Given the description of an element on the screen output the (x, y) to click on. 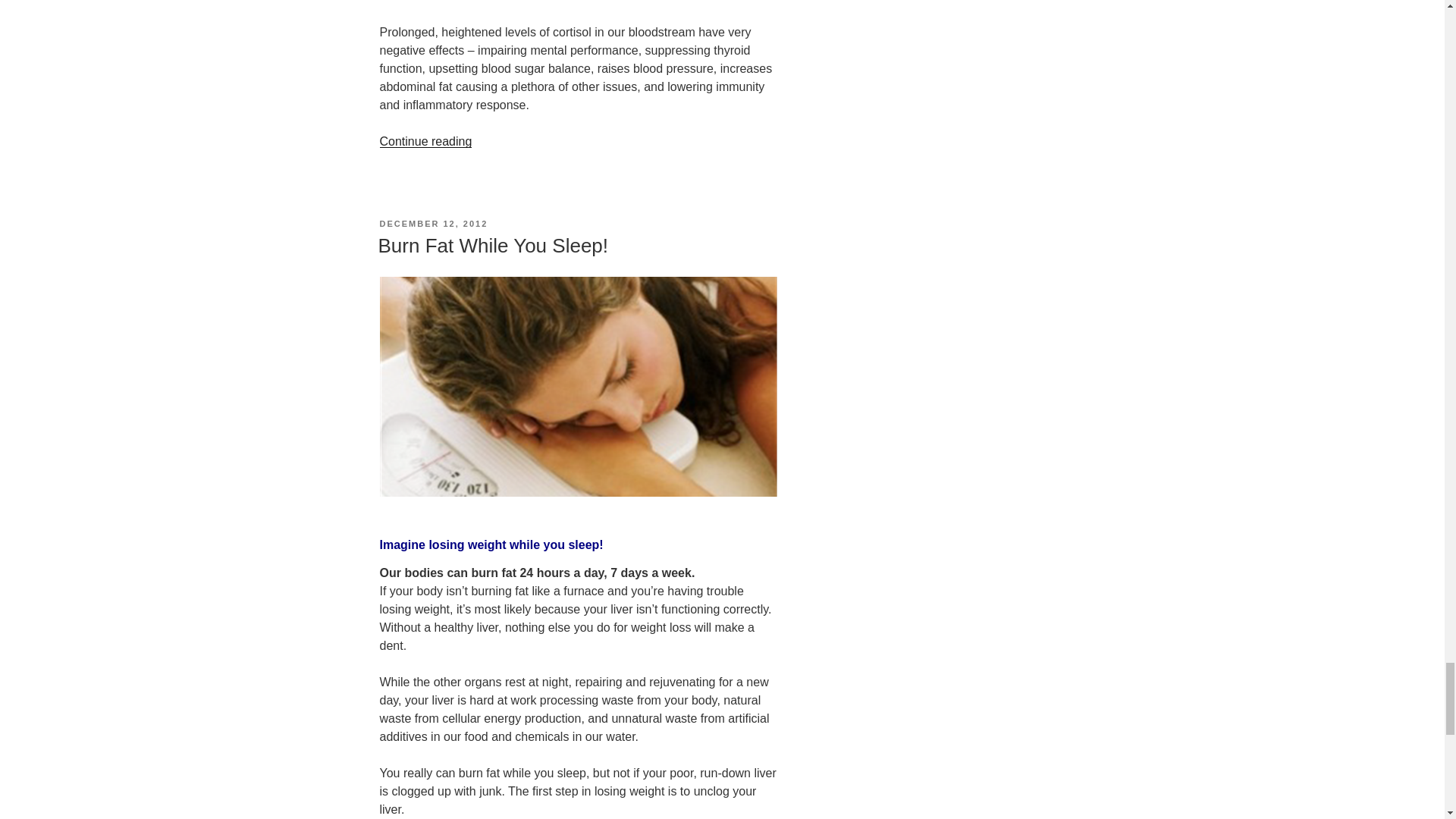
DECEMBER 12, 2012 (432, 223)
a photo of a woman sleeping on a scale (577, 386)
Burn Fat While You Sleep! (492, 245)
